Given the description of an element on the screen output the (x, y) to click on. 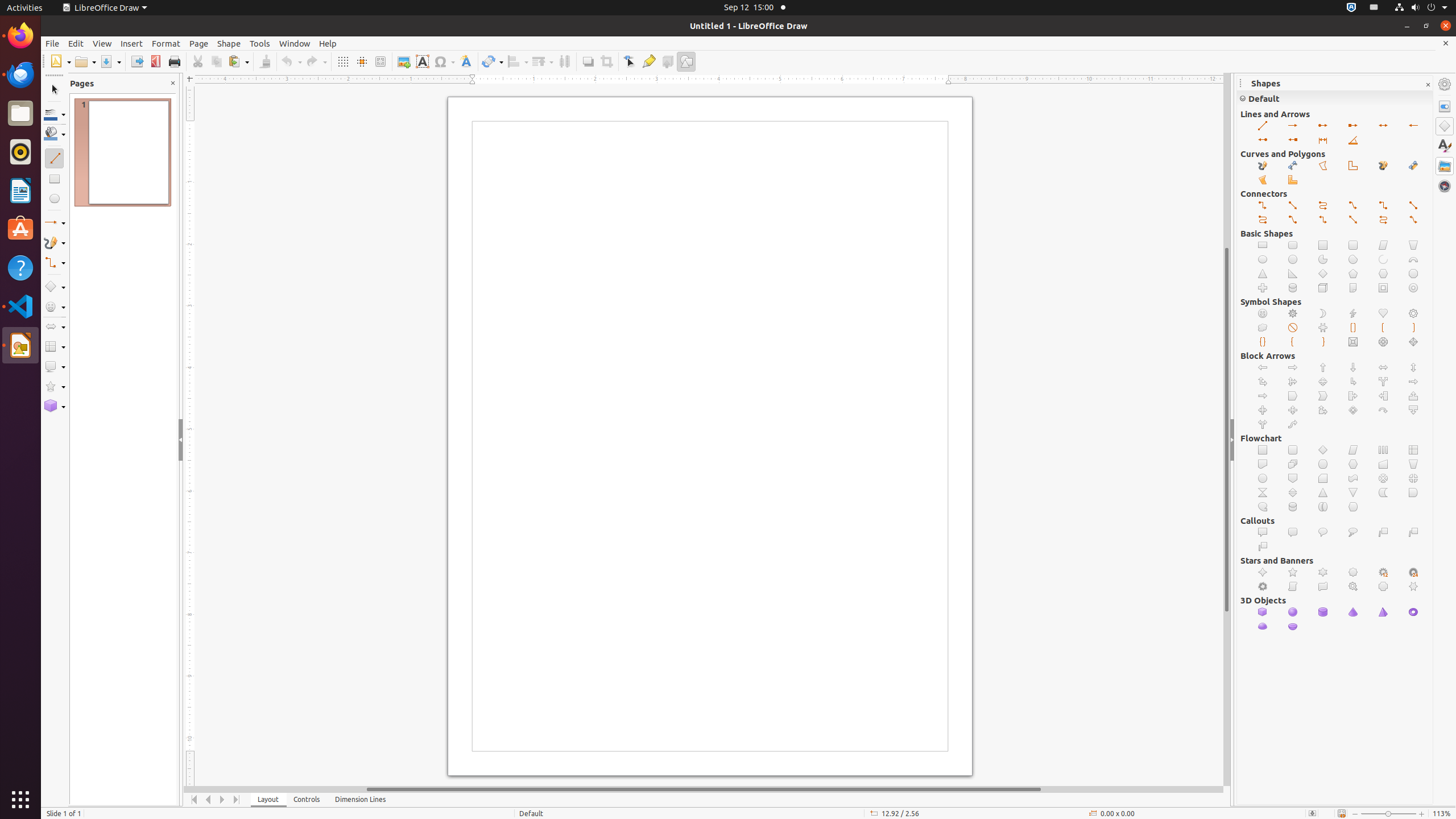
Page Element type: menu (198, 43)
Diamond Bevel Element type: list-item (1413, 341)
Redo Element type: push-button (315, 61)
Rhythmbox Element type: push-button (20, 151)
Cube Element type: list-item (1262, 612)
